Given the description of an element on the screen output the (x, y) to click on. 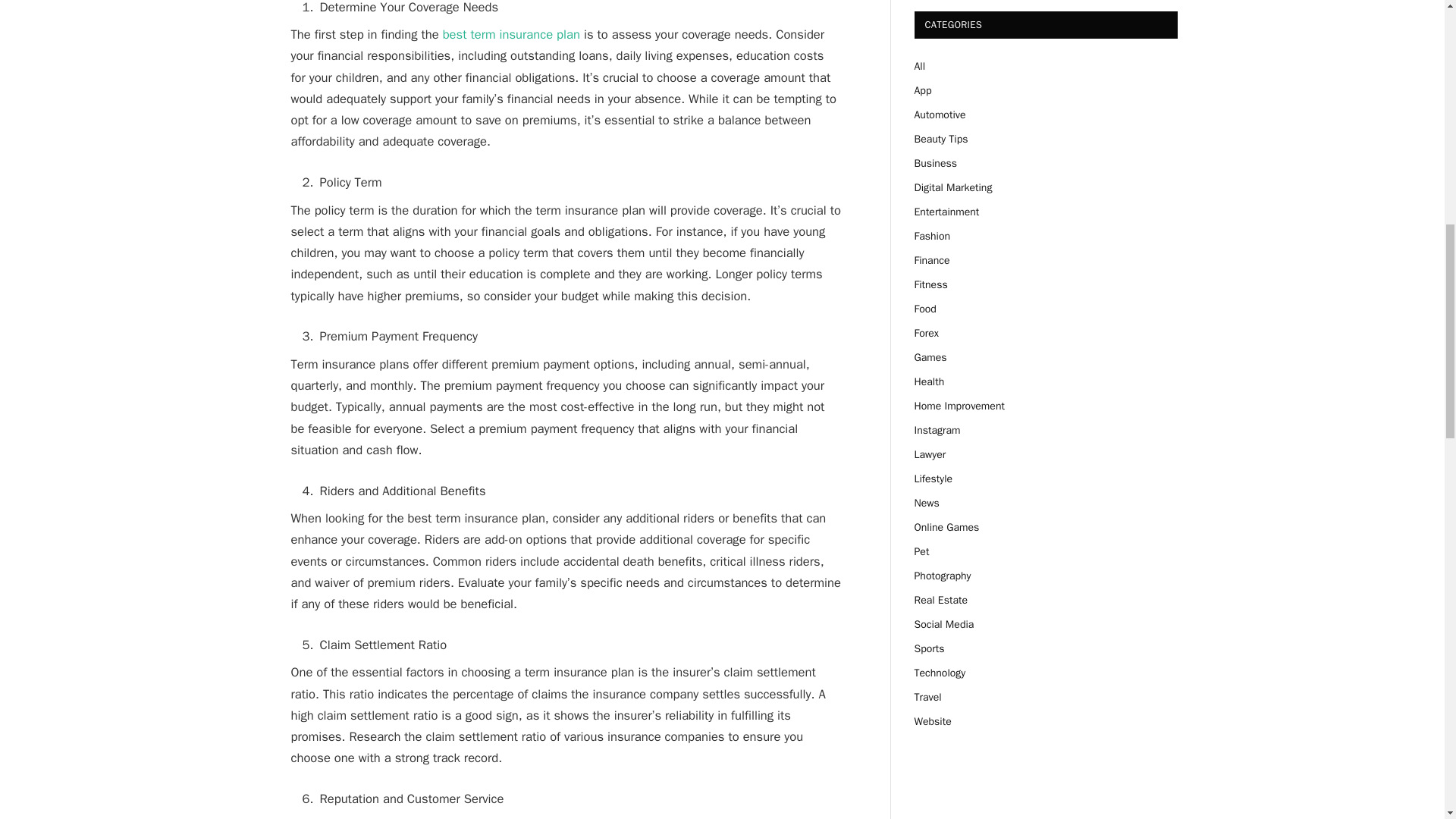
best term insurance plan (510, 34)
